Given the description of an element on the screen output the (x, y) to click on. 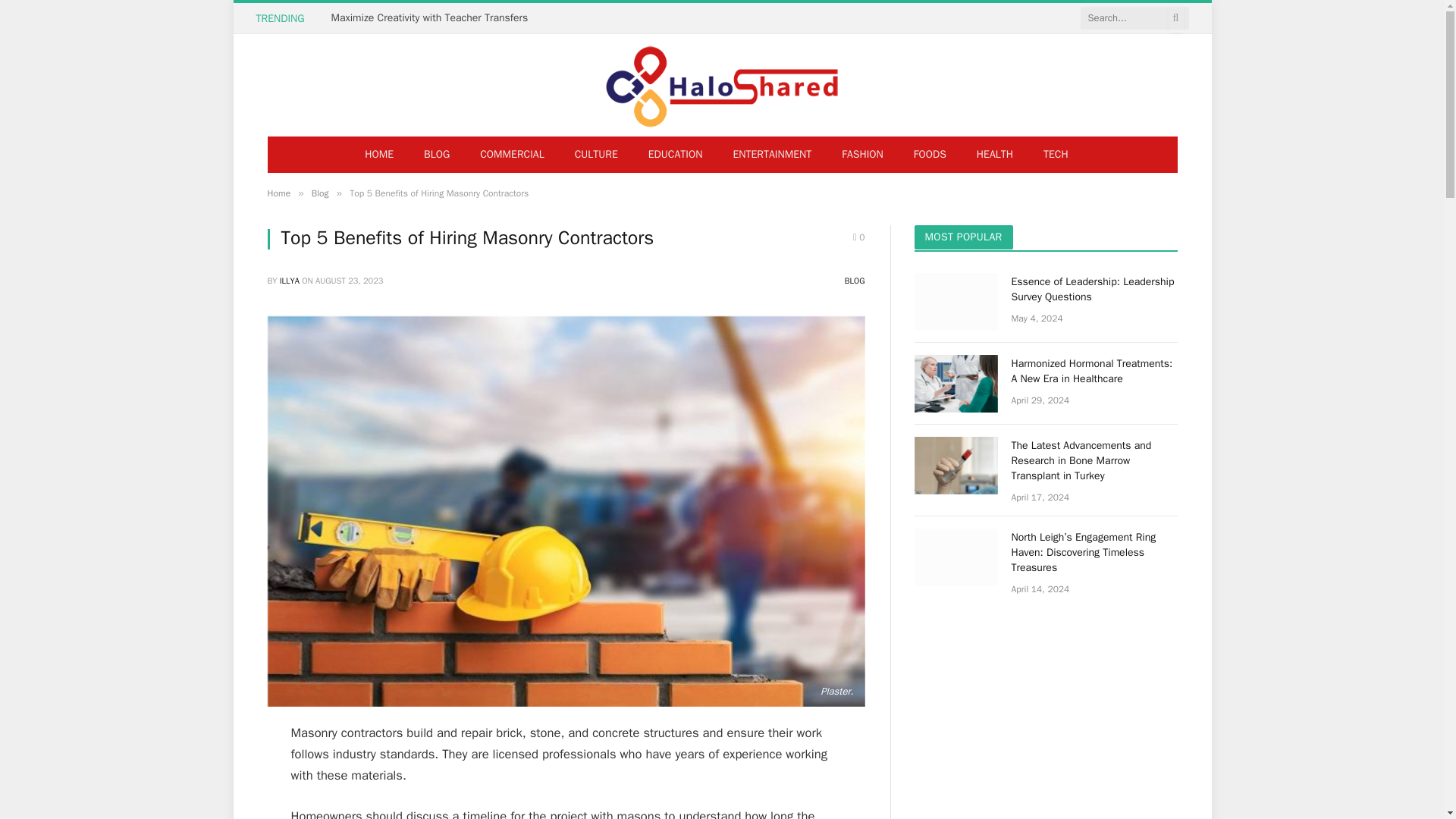
HOME (379, 154)
COMMERCIAL (511, 154)
Blog (320, 193)
CULTURE (596, 154)
BLOG (854, 280)
Home (277, 193)
TECH (1055, 154)
ENTERTAINMENT (772, 154)
HEALTH (993, 154)
Posts by Illya (289, 280)
BLOG (436, 154)
FASHION (862, 154)
EDUCATION (675, 154)
ILLYA (289, 280)
